Given the description of an element on the screen output the (x, y) to click on. 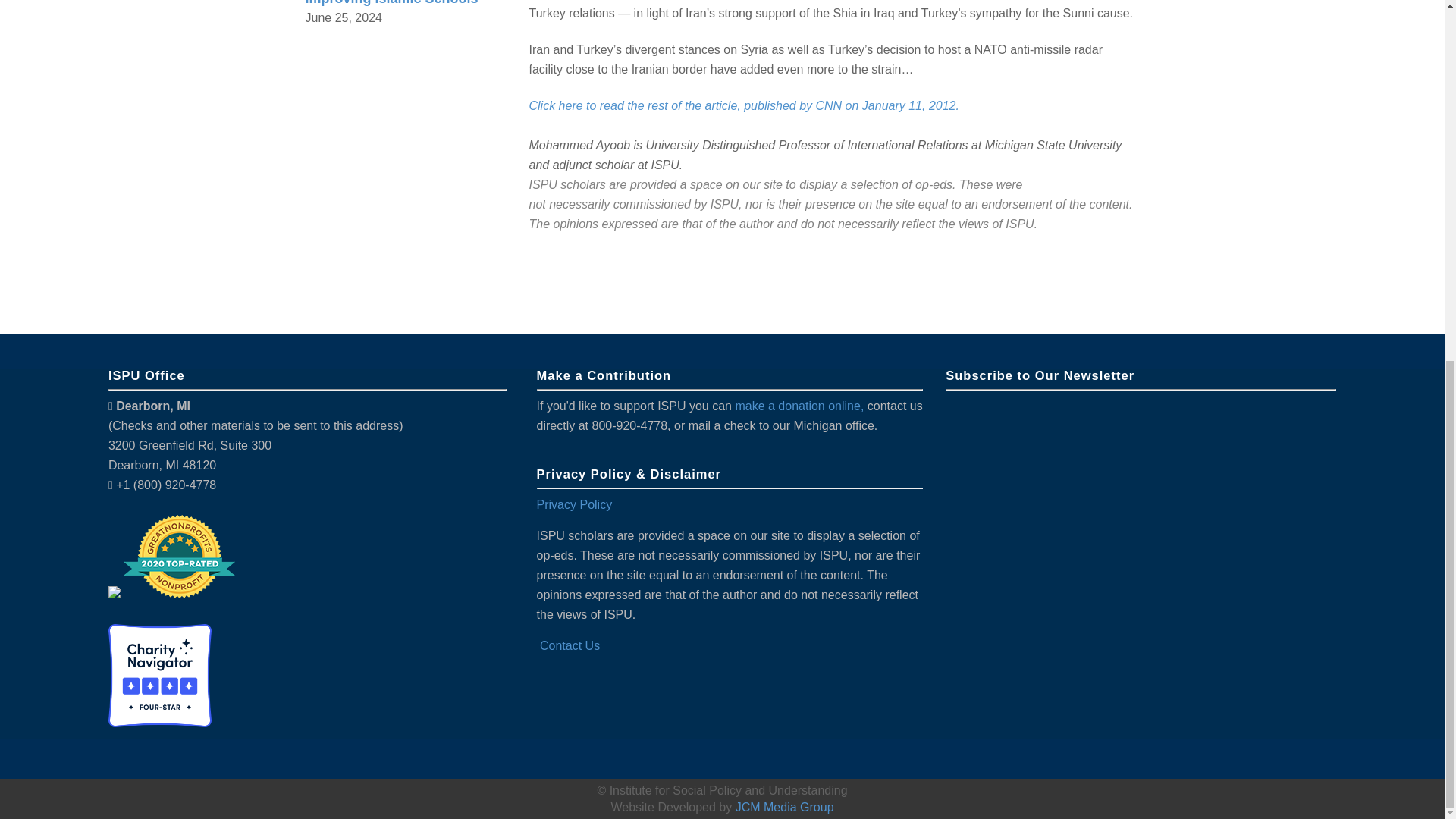
Form 0 (1140, 555)
